Given the description of an element on the screen output the (x, y) to click on. 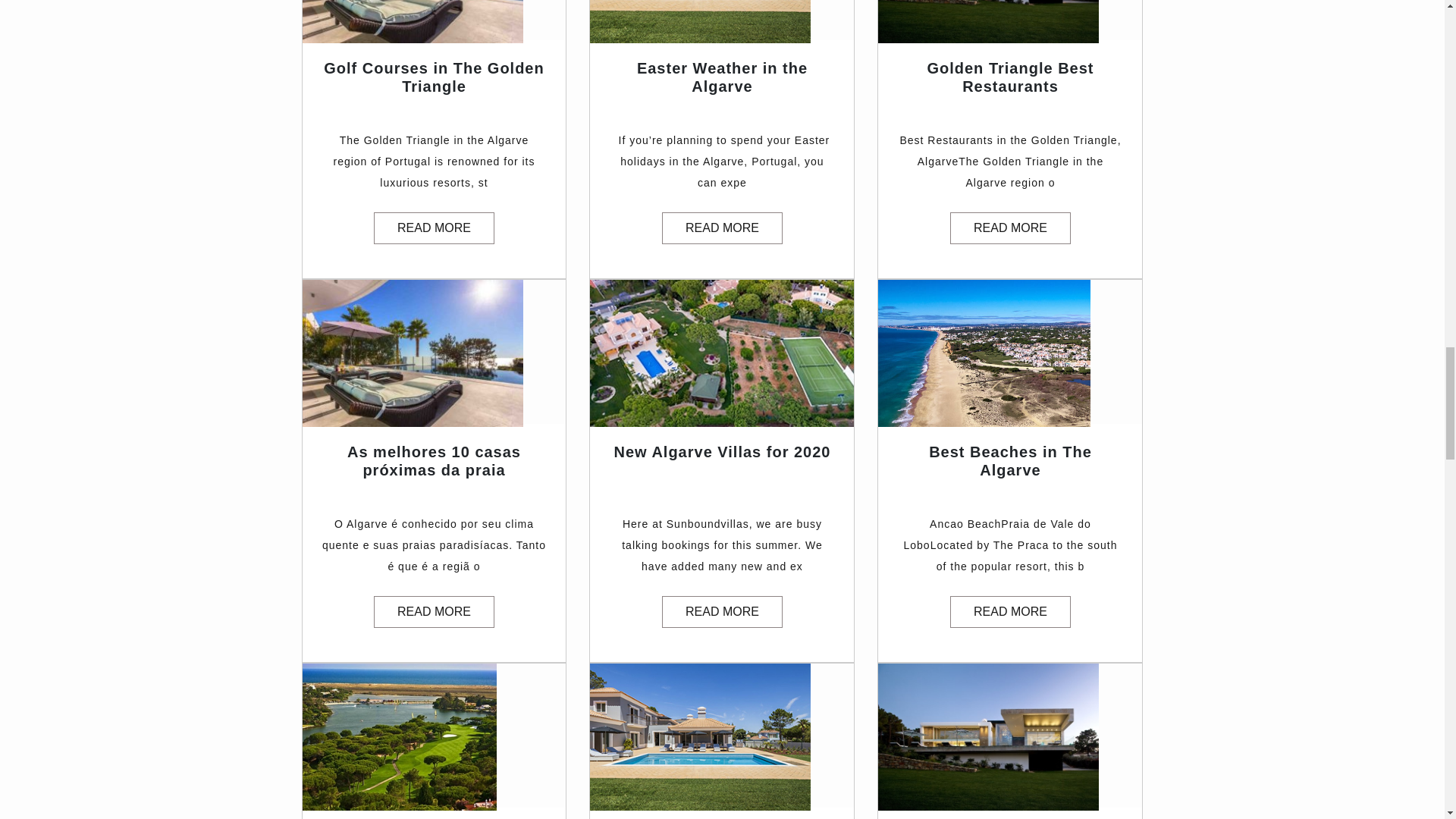
READ MORE (722, 612)
READ MORE (434, 228)
READ MORE (1010, 612)
READ MORE (434, 612)
READ MORE (722, 228)
READ MORE (1010, 228)
